Given the description of an element on the screen output the (x, y) to click on. 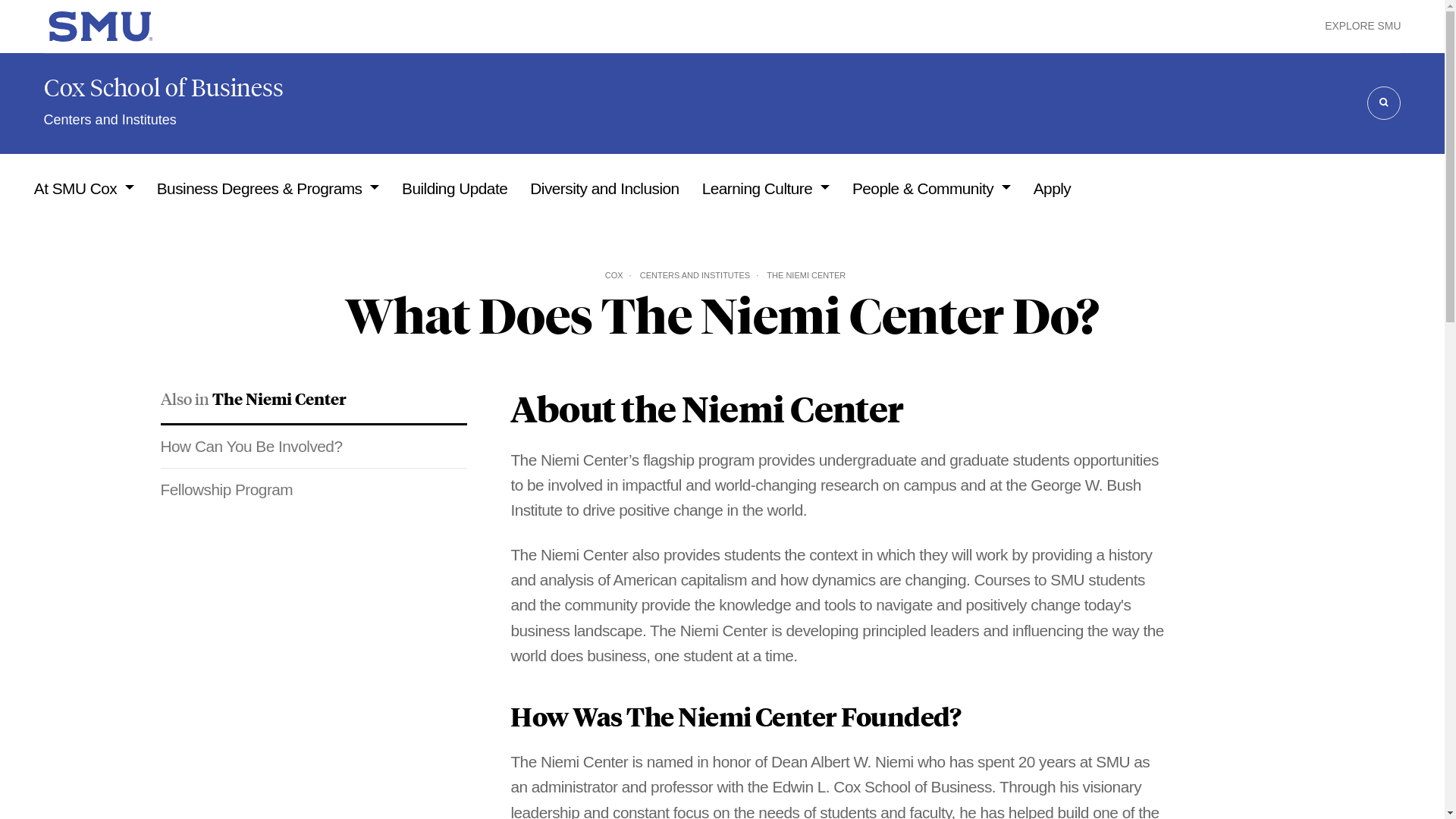
SEARCH (1383, 102)
At SMU Cox (83, 188)
Centers and Institutes (174, 120)
Building Update (453, 188)
Cox School of Business (163, 87)
EXPLORE SMU (1362, 26)
